Given the description of an element on the screen output the (x, y) to click on. 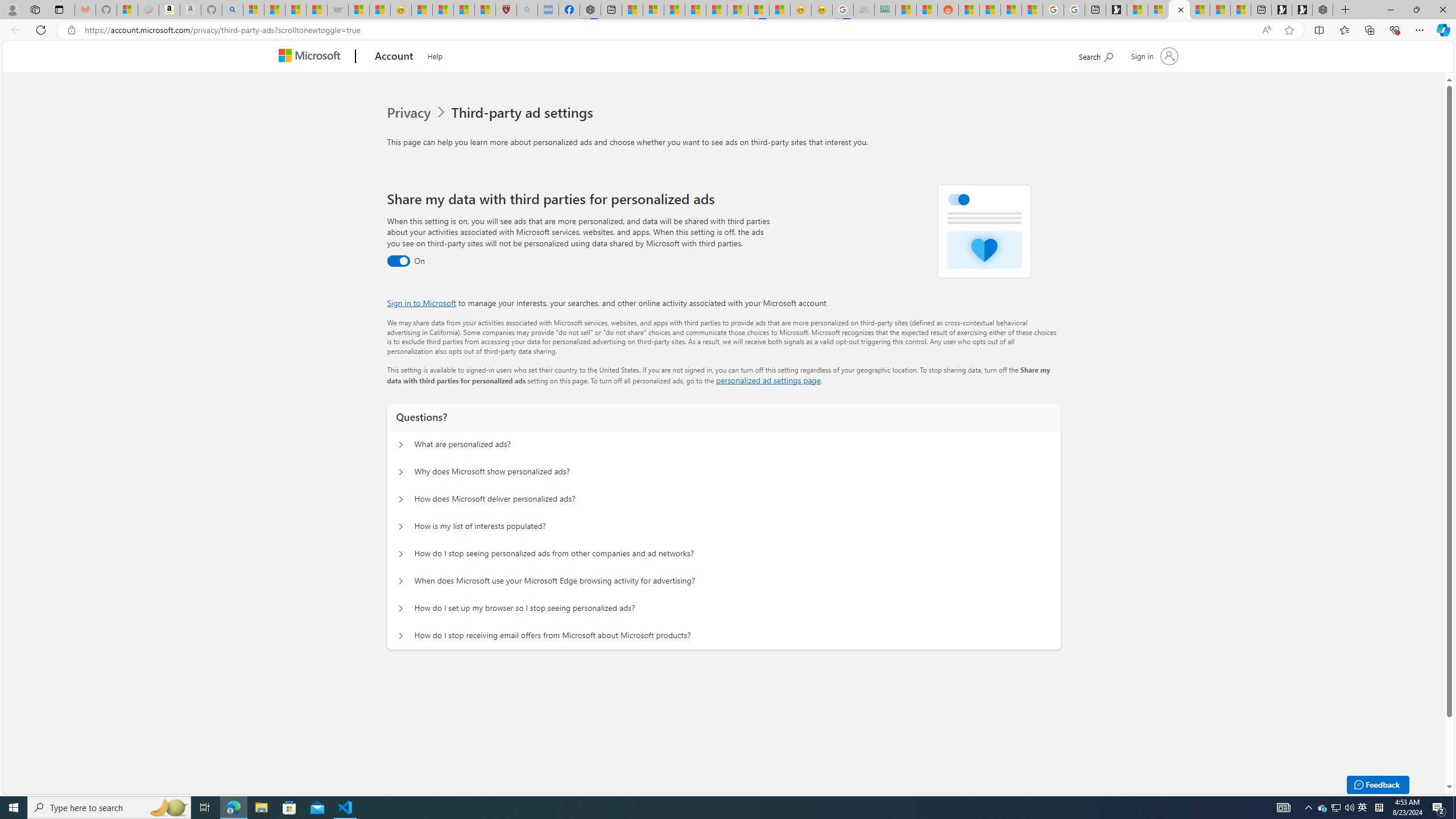
These 3 Stocks Pay You More Than 5% to Own Them (1240, 9)
Third-party ad settings (523, 112)
Third party data sharing toggle (398, 260)
R******* | Trusted Community Engagement and Contributions (968, 9)
